Given the description of an element on the screen output the (x, y) to click on. 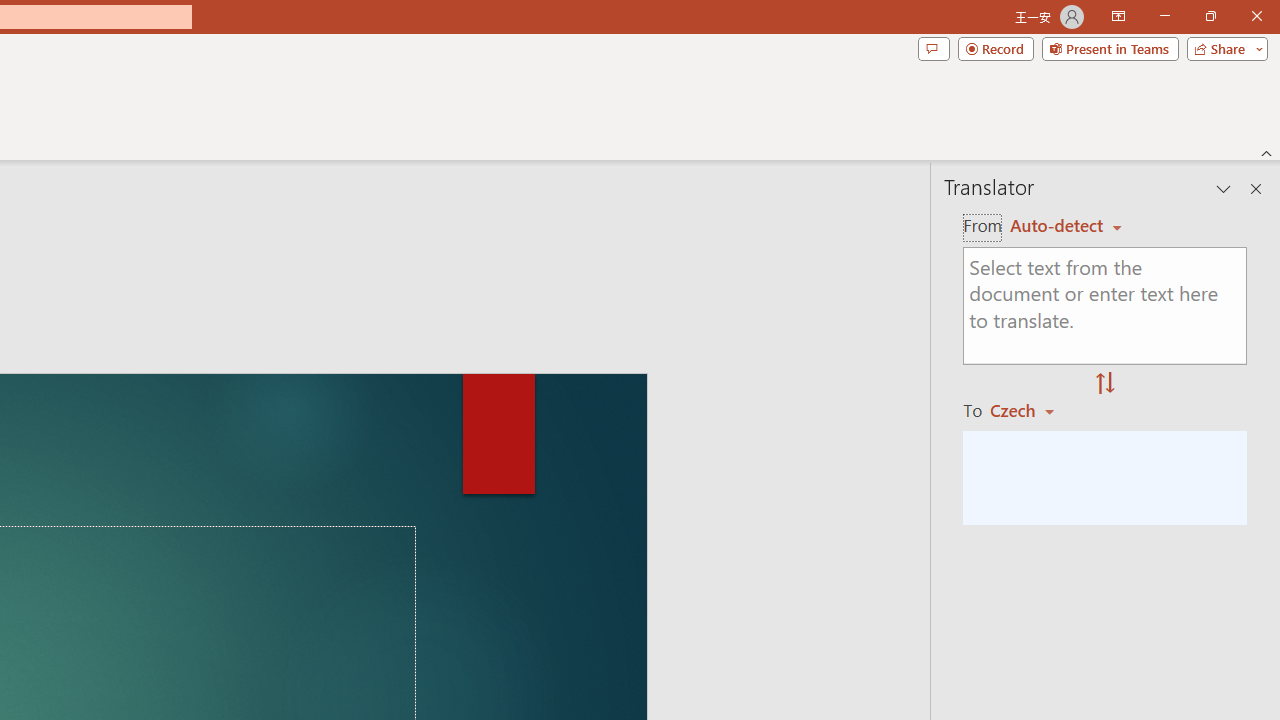
Auto-detect (1066, 225)
Czech (1030, 409)
Swap "from" and "to" languages. (1105, 383)
